Given the description of an element on the screen output the (x, y) to click on. 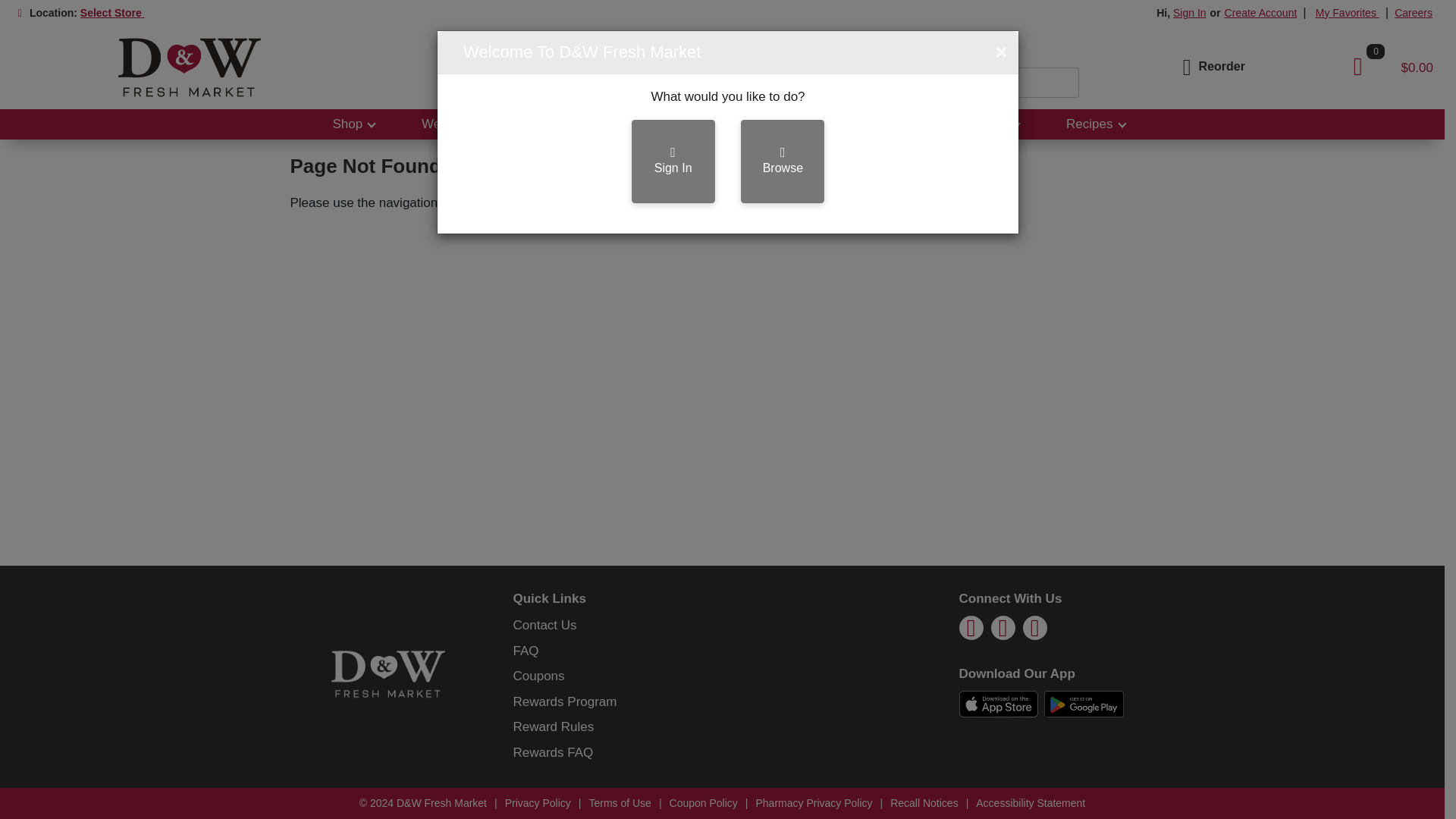
Reorder (1210, 65)
pinterest (1002, 631)
Select Store (112, 12)
youtube (1034, 631)
facebook (970, 631)
